Given the description of an element on the screen output the (x, y) to click on. 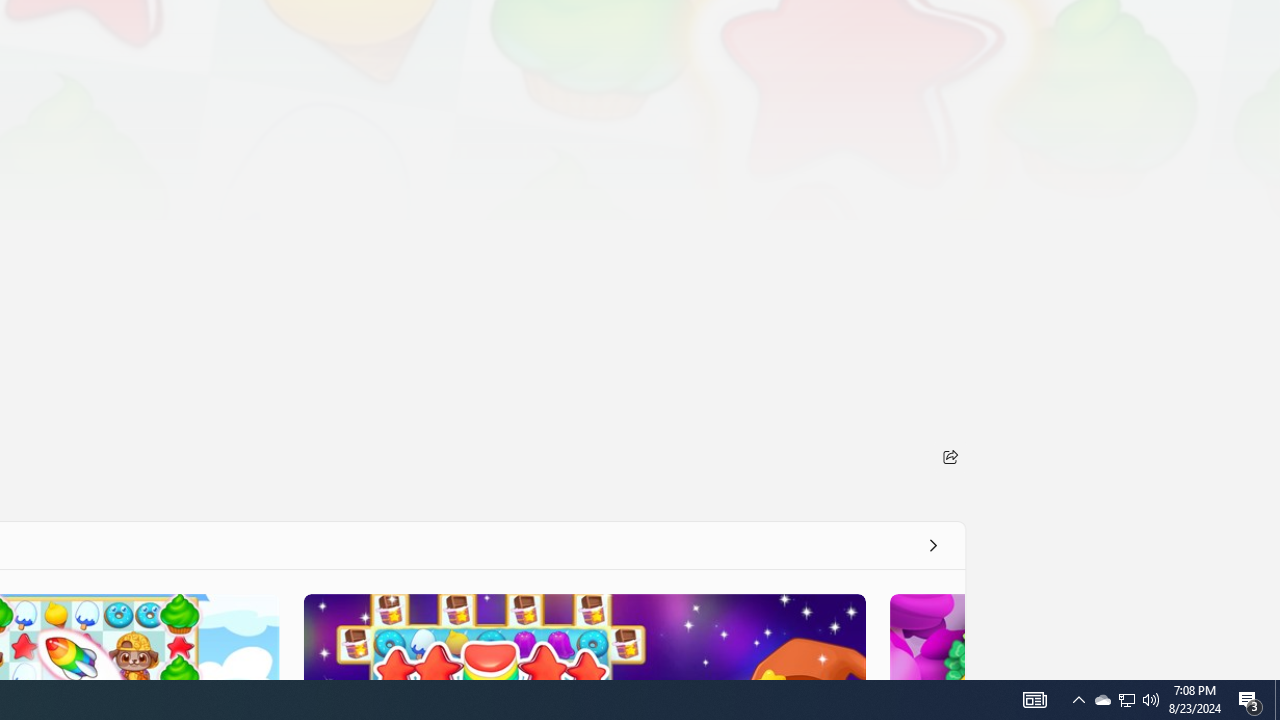
Vertical Small Increase (1272, 672)
